Given the description of an element on the screen output the (x, y) to click on. 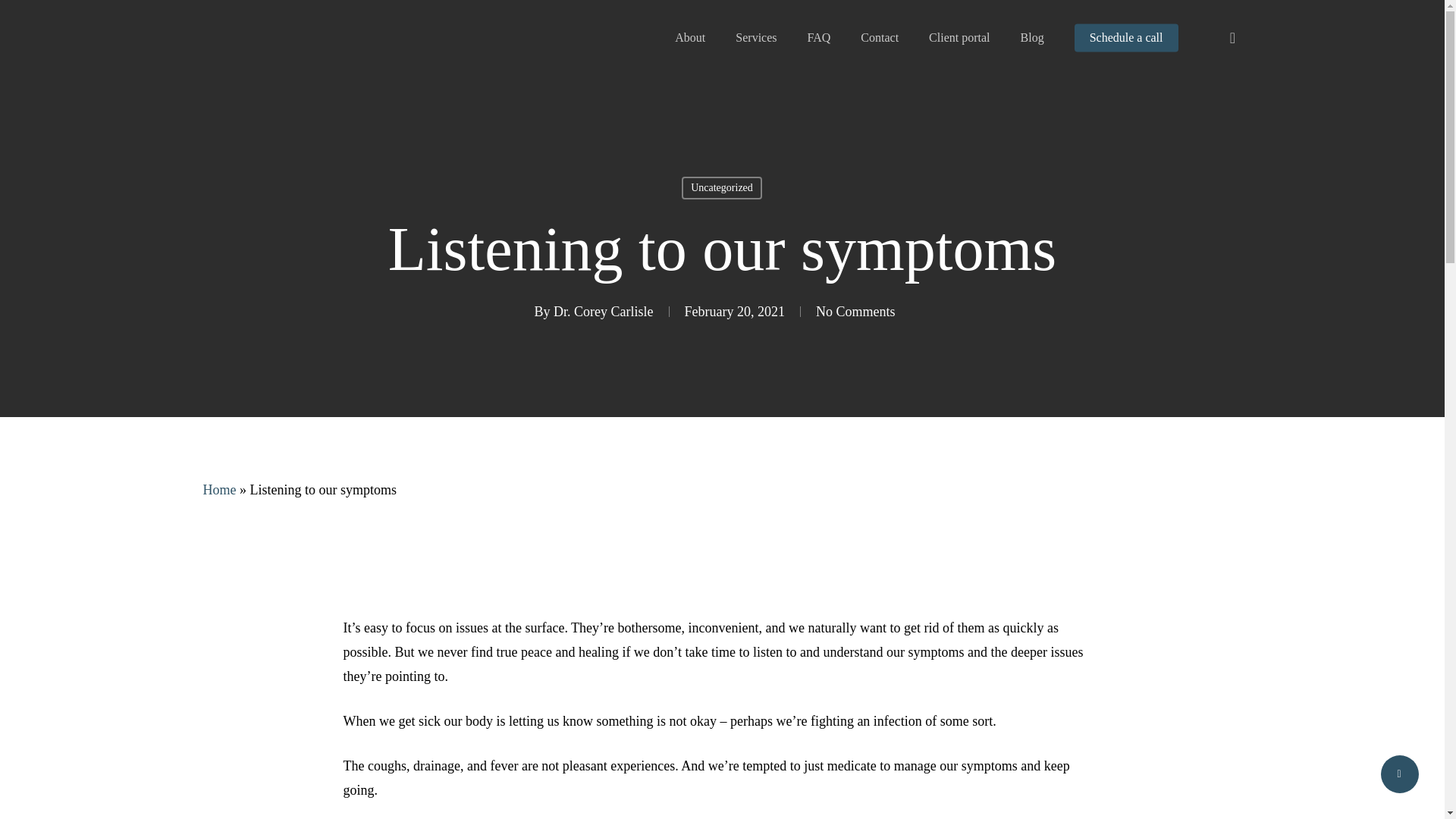
Posts by Dr. Corey Carlisle (602, 311)
FAQ (817, 37)
Services (755, 37)
Client portal (959, 37)
About (689, 37)
Contact (879, 37)
